Given the description of an element on the screen output the (x, y) to click on. 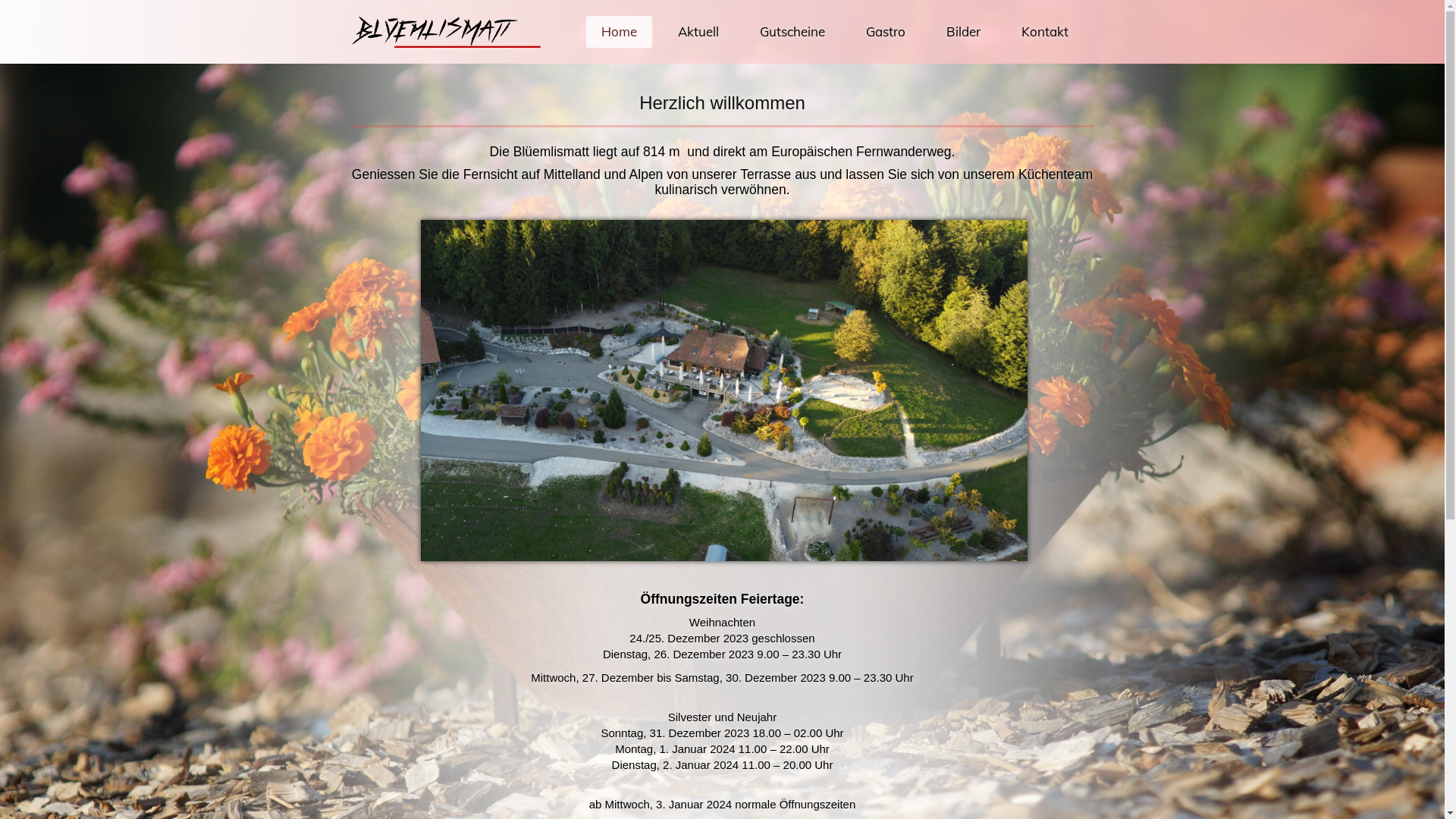
Kontakt Element type: text (1043, 31)
Home Element type: text (618, 31)
Gastro Element type: text (885, 31)
Bilder Element type: text (963, 31)
Gutscheine Element type: text (792, 31)
Aktuell Element type: text (698, 31)
